Given the description of an element on the screen output the (x, y) to click on. 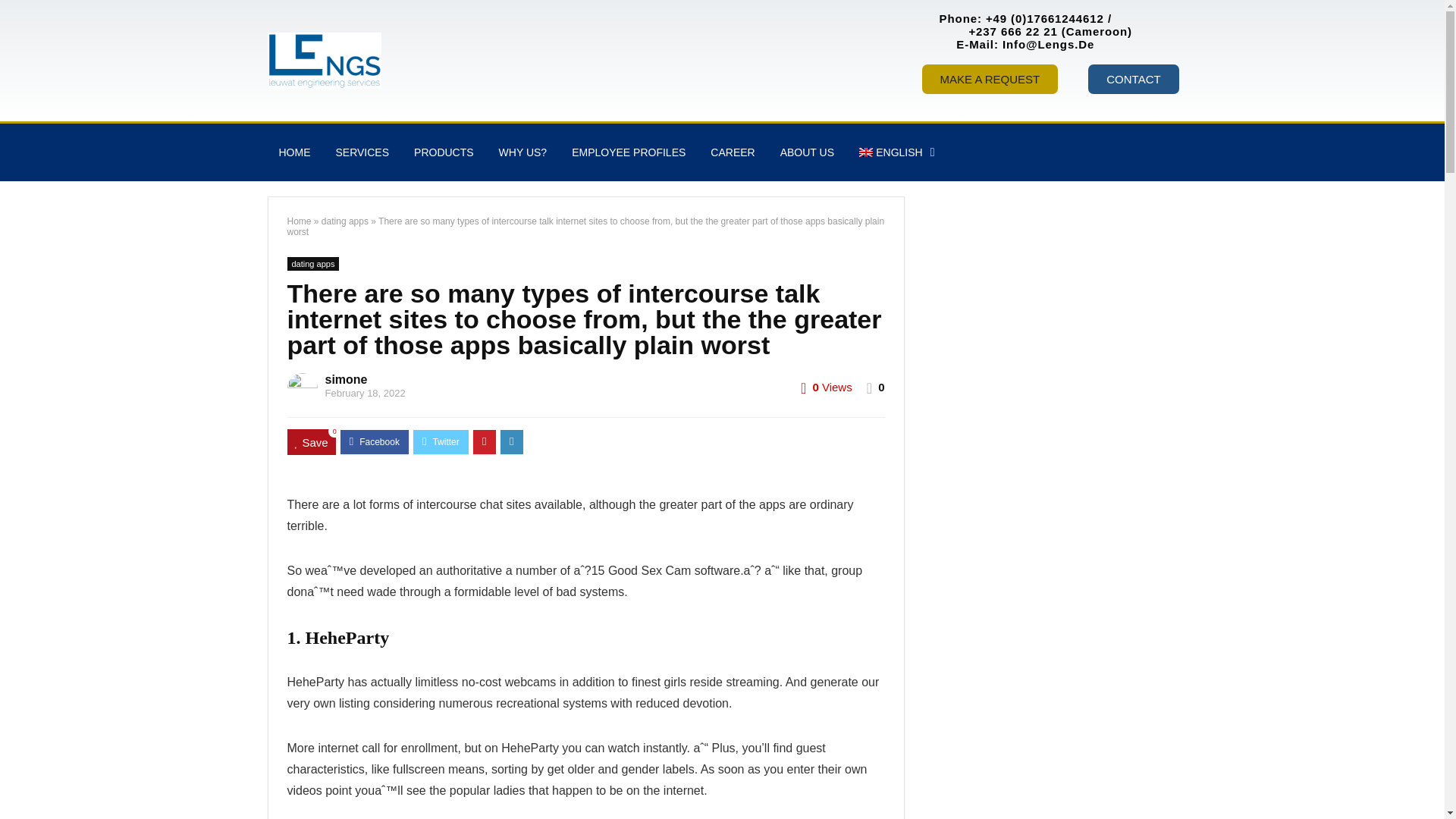
CAREER (731, 151)
EMPLOYEE PROFILES (628, 151)
View all posts in dating apps (312, 264)
dating apps (344, 221)
PRODUCTS (443, 151)
simone (345, 379)
MAKE A REQUEST (989, 79)
Home (298, 221)
English (896, 151)
CONTACT (1132, 79)
HOME (293, 151)
WHY US? (523, 151)
SERVICES (362, 151)
ABOUT US (806, 151)
dating apps (312, 264)
